Given the description of an element on the screen output the (x, y) to click on. 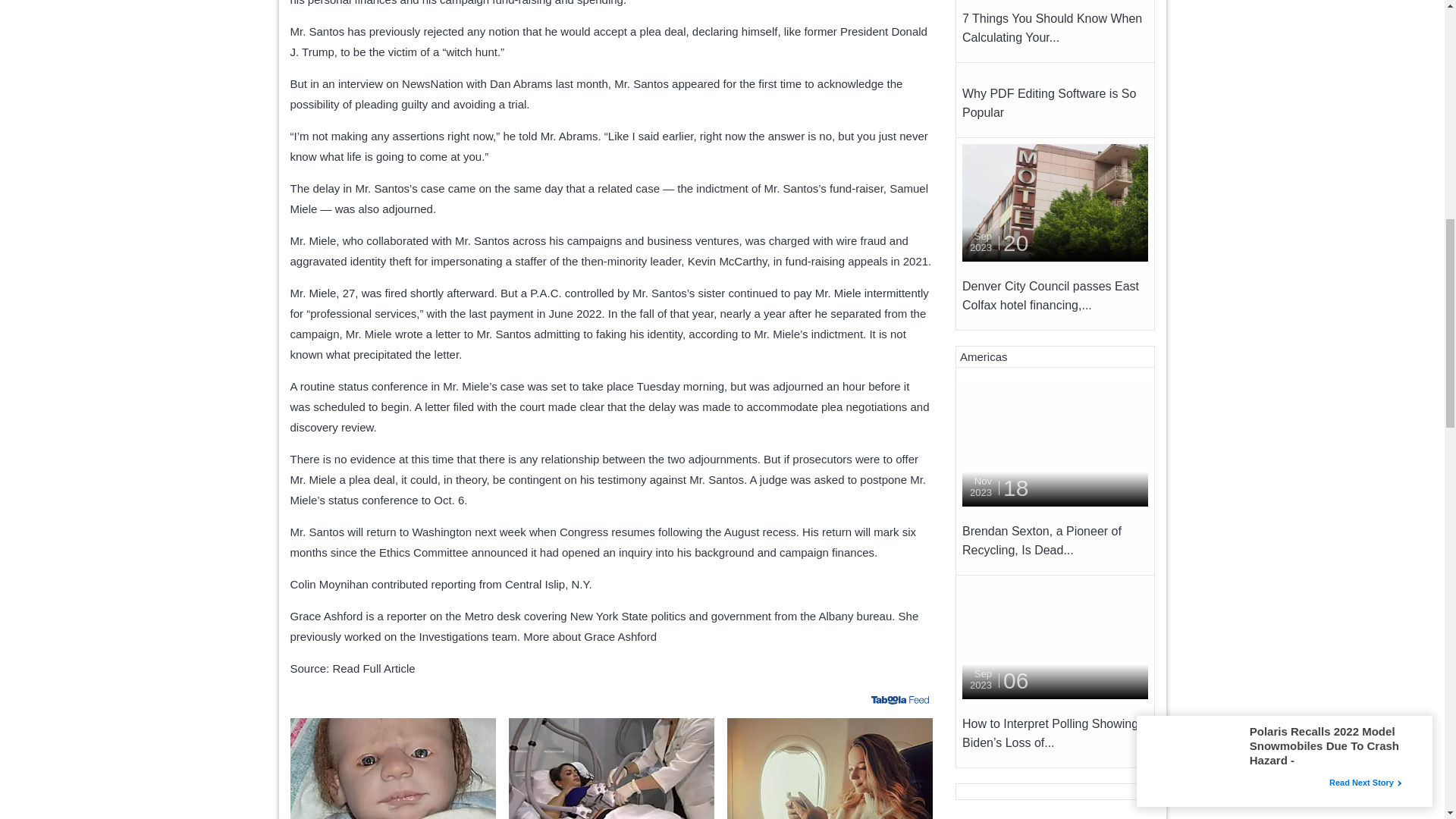
Read Full Article (372, 667)
